Given the description of an element on the screen output the (x, y) to click on. 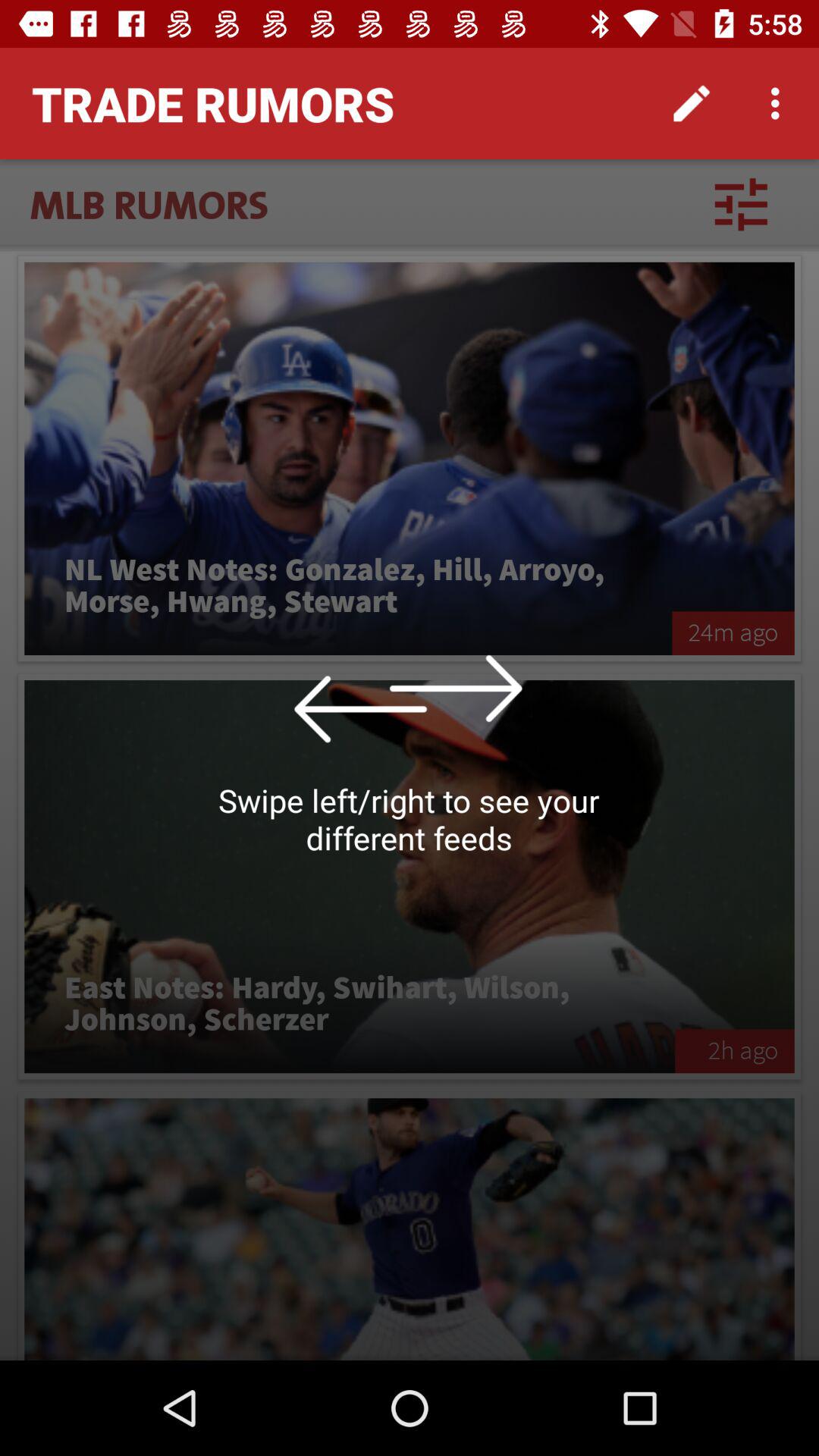
press the item next to east notes hardy (734, 1051)
